Given the description of an element on the screen output the (x, y) to click on. 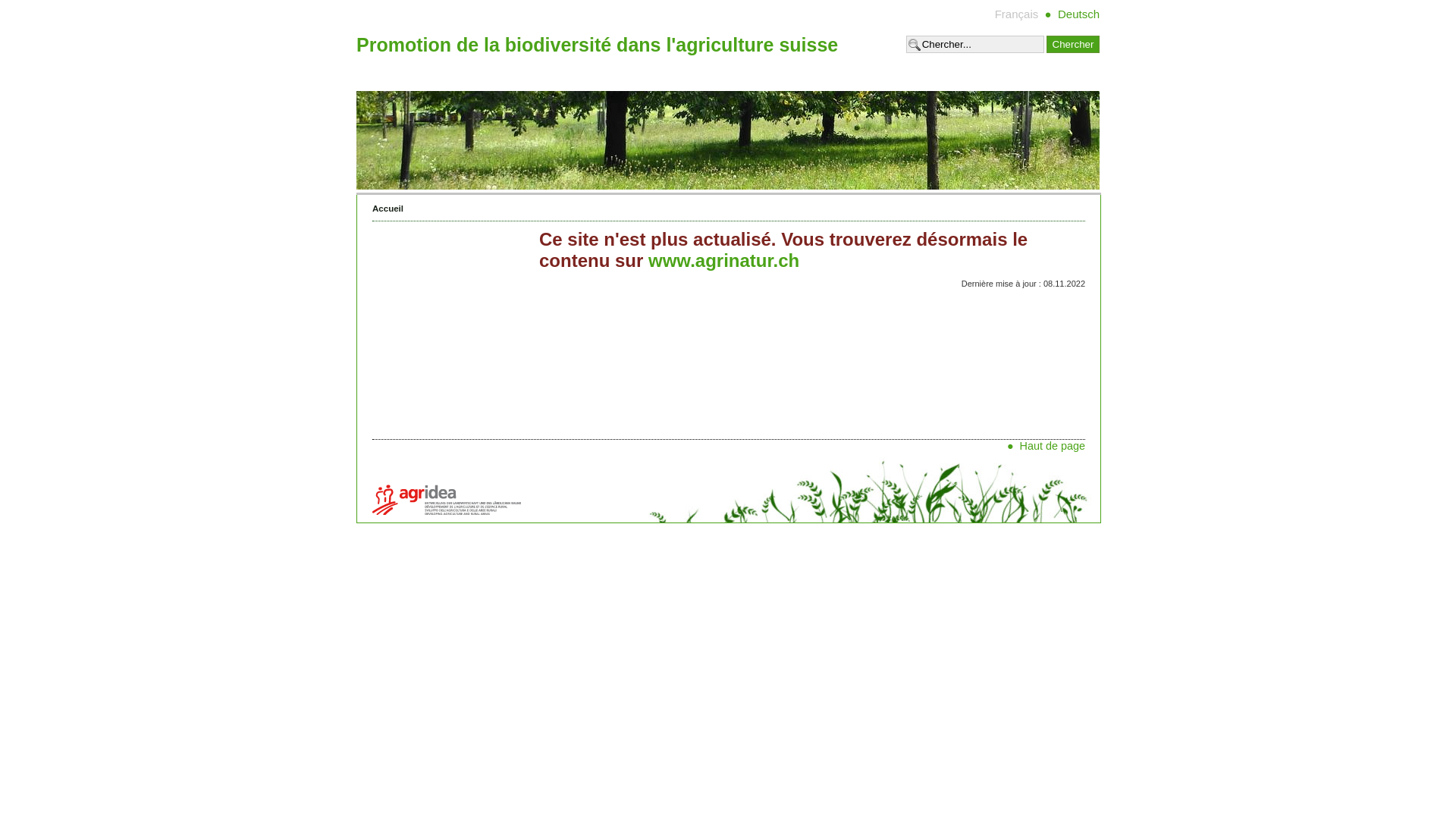
Chercher Element type: text (1072, 44)
Accueil Element type: text (387, 208)
Deutsch Element type: text (1078, 13)
Haut de page Element type: text (1052, 445)
www.agrinatur.ch Element type: text (723, 260)
